Given the description of an element on the screen output the (x, y) to click on. 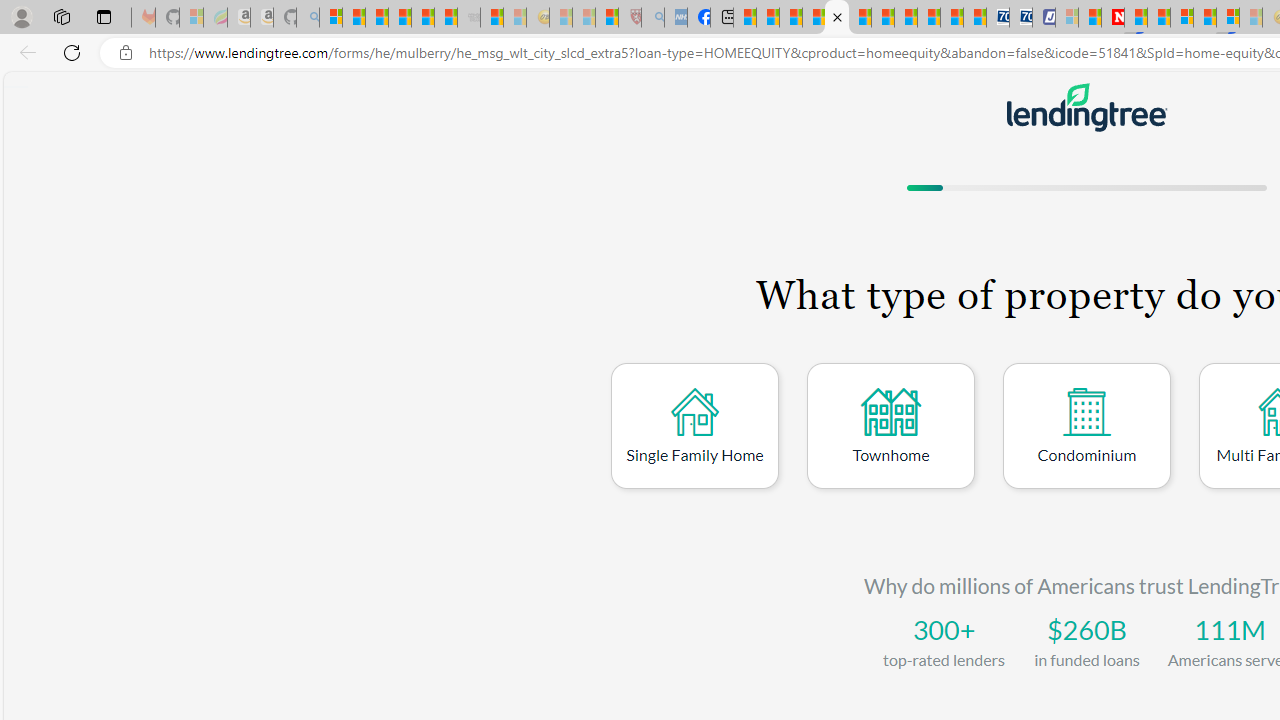
Local - MSN (607, 17)
